Given the description of an element on the screen output the (x, y) to click on. 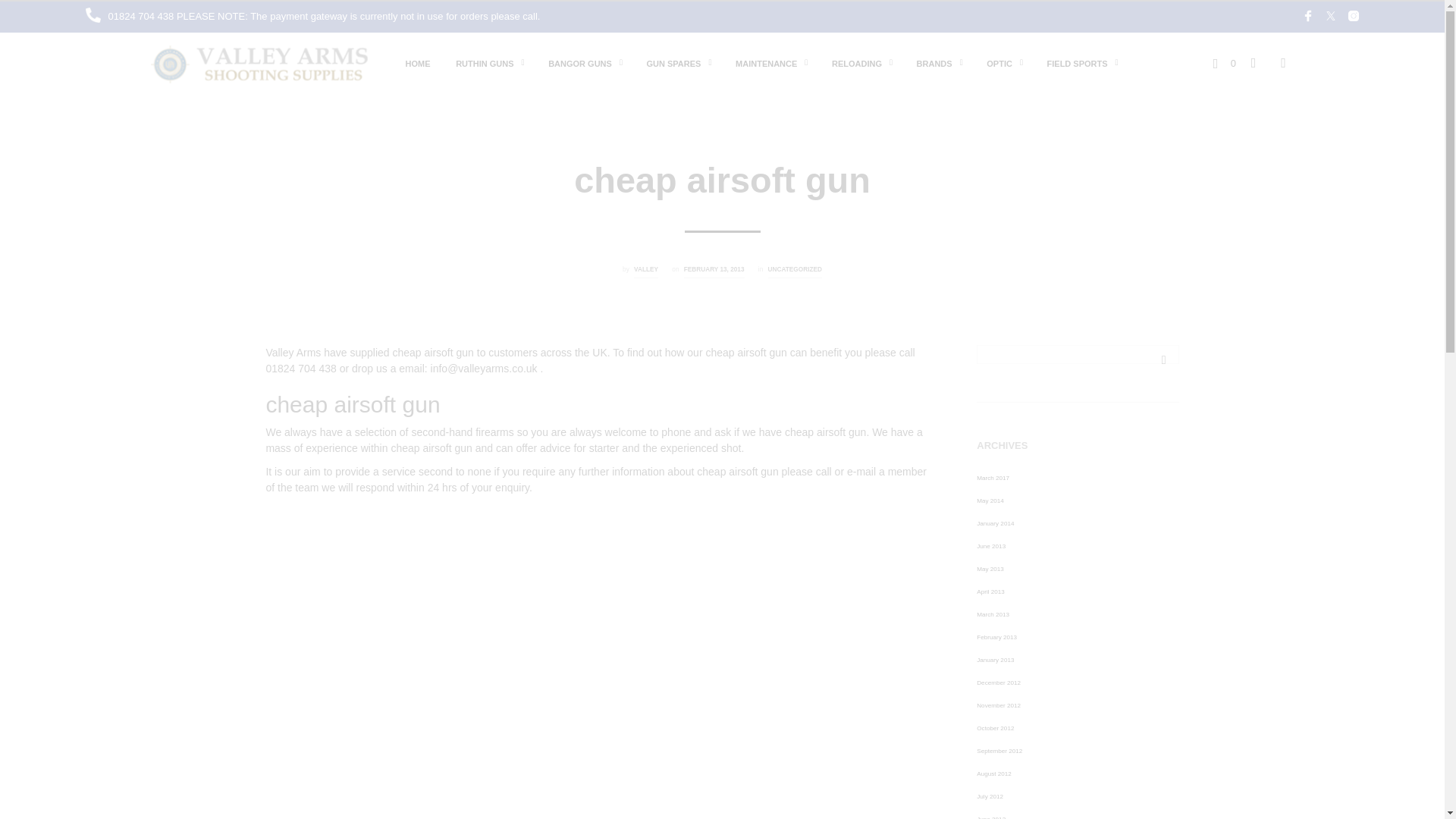
HOME (418, 63)
View all posts by valley (645, 271)
Permalink to cheap airsoft gun (714, 271)
Search (1163, 359)
01824 704 438 (141, 16)
0 (1224, 62)
Search (1163, 359)
RUTHIN GUNS (484, 63)
